Given the description of an element on the screen output the (x, y) to click on. 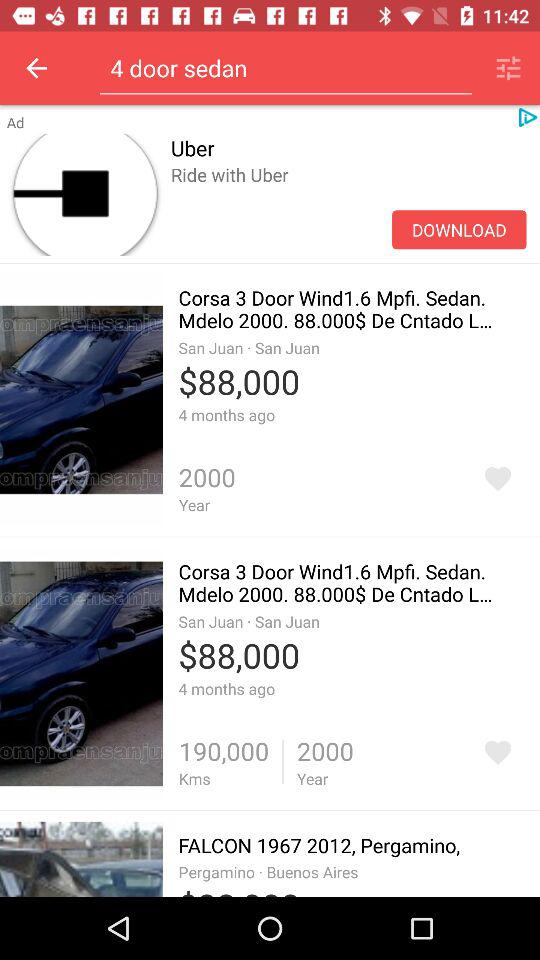
go back (36, 68)
